Given the description of an element on the screen output the (x, y) to click on. 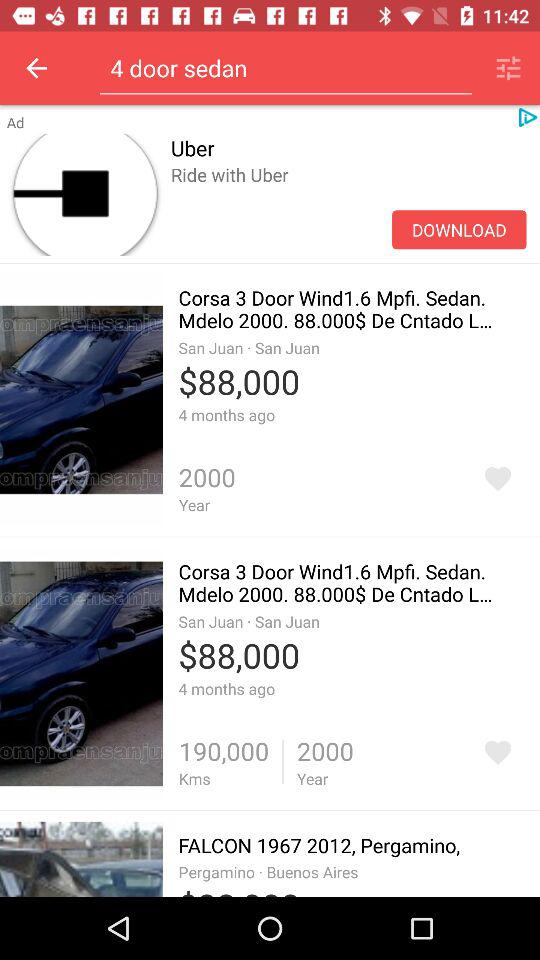
go back (36, 68)
